Given the description of an element on the screen output the (x, y) to click on. 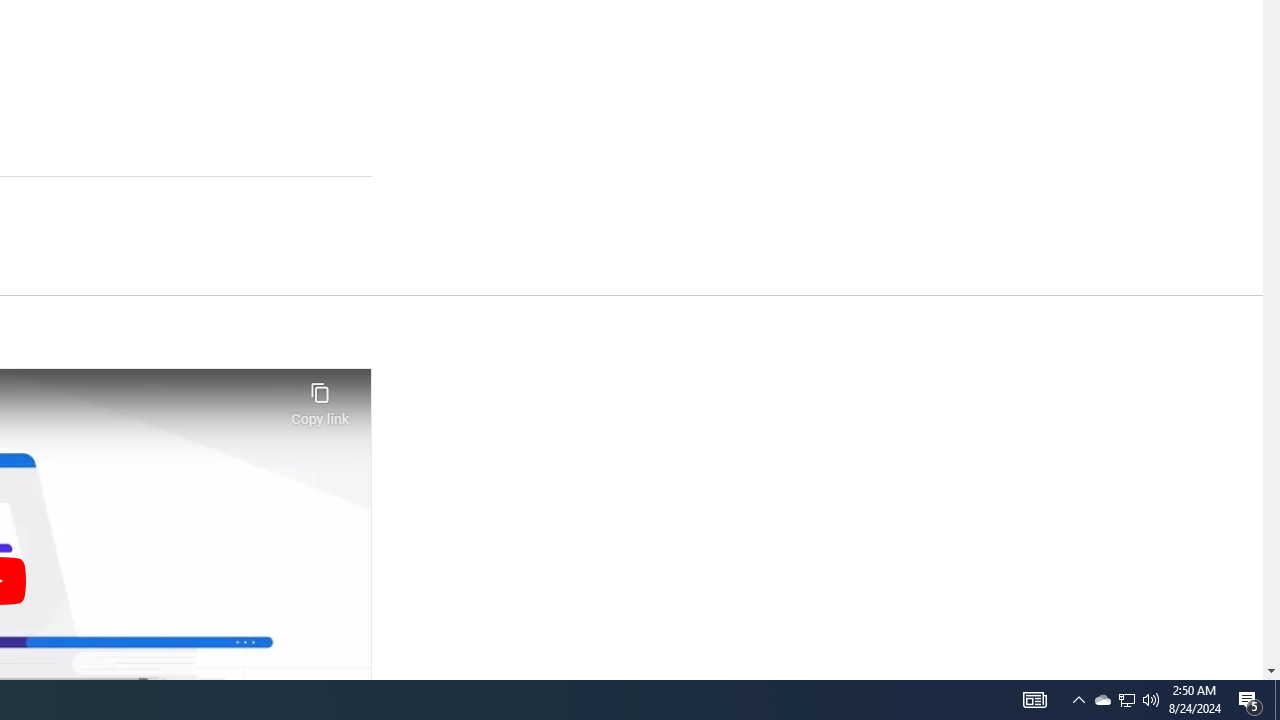
Copy link (319, 398)
